Given the description of an element on the screen output the (x, y) to click on. 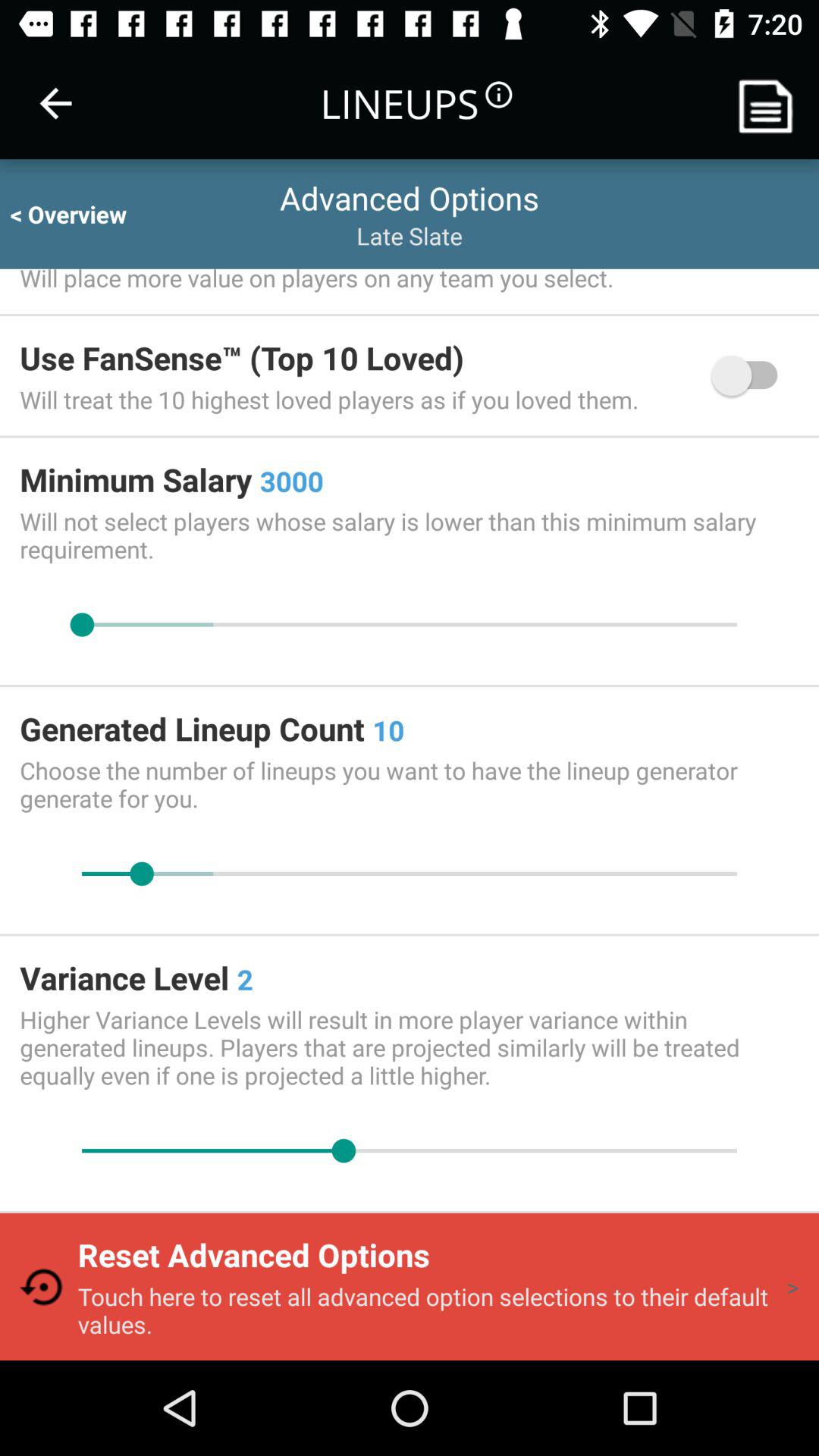
press the icon above will place more (81, 214)
